Given the description of an element on the screen output the (x, y) to click on. 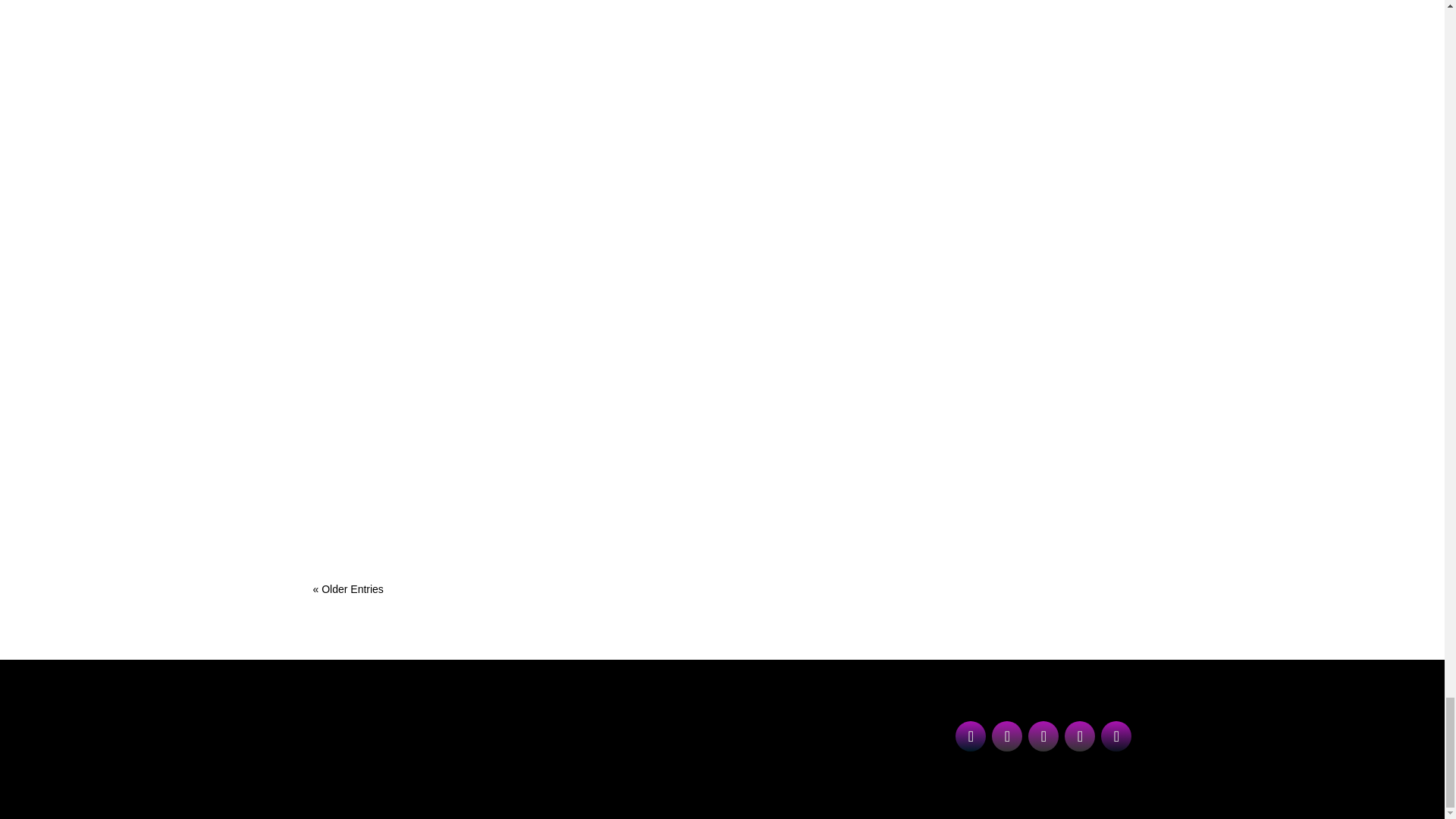
Follow on Facebook (1006, 736)
Follow on Youtube (1079, 736)
Follow on Twitter (1042, 736)
Follow on LinkedIn (970, 736)
Follow on MySpace (1115, 736)
